Given the description of an element on the screen output the (x, y) to click on. 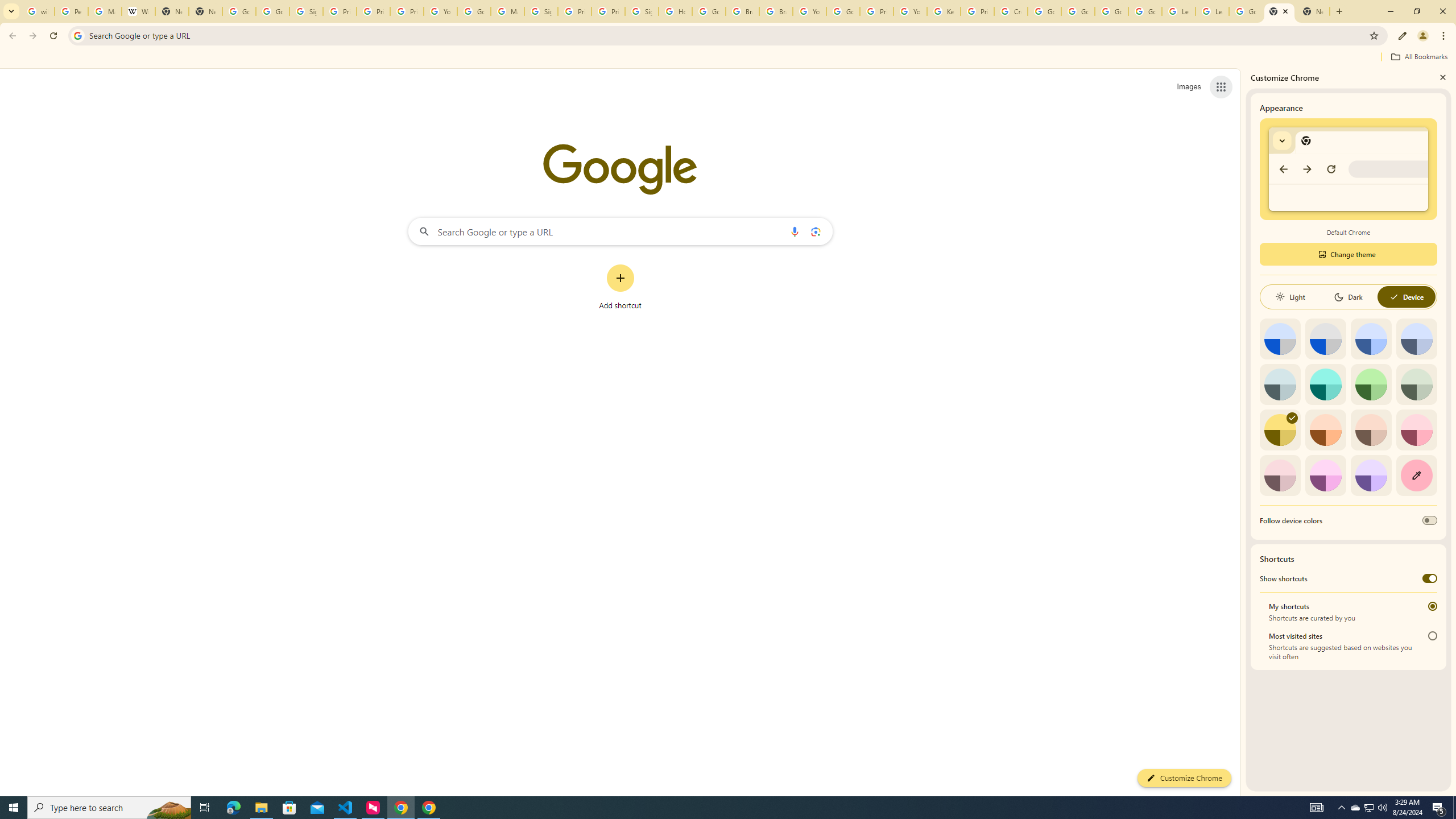
Grey default color (1325, 338)
Most visited sites (1432, 635)
Bookmarks (728, 58)
My shortcuts (1432, 605)
Sign in - Google Accounts (305, 11)
Light (1289, 296)
Search for Images  (1188, 87)
Google Account (1246, 11)
Google Account Help (474, 11)
